Given the description of an element on the screen output the (x, y) to click on. 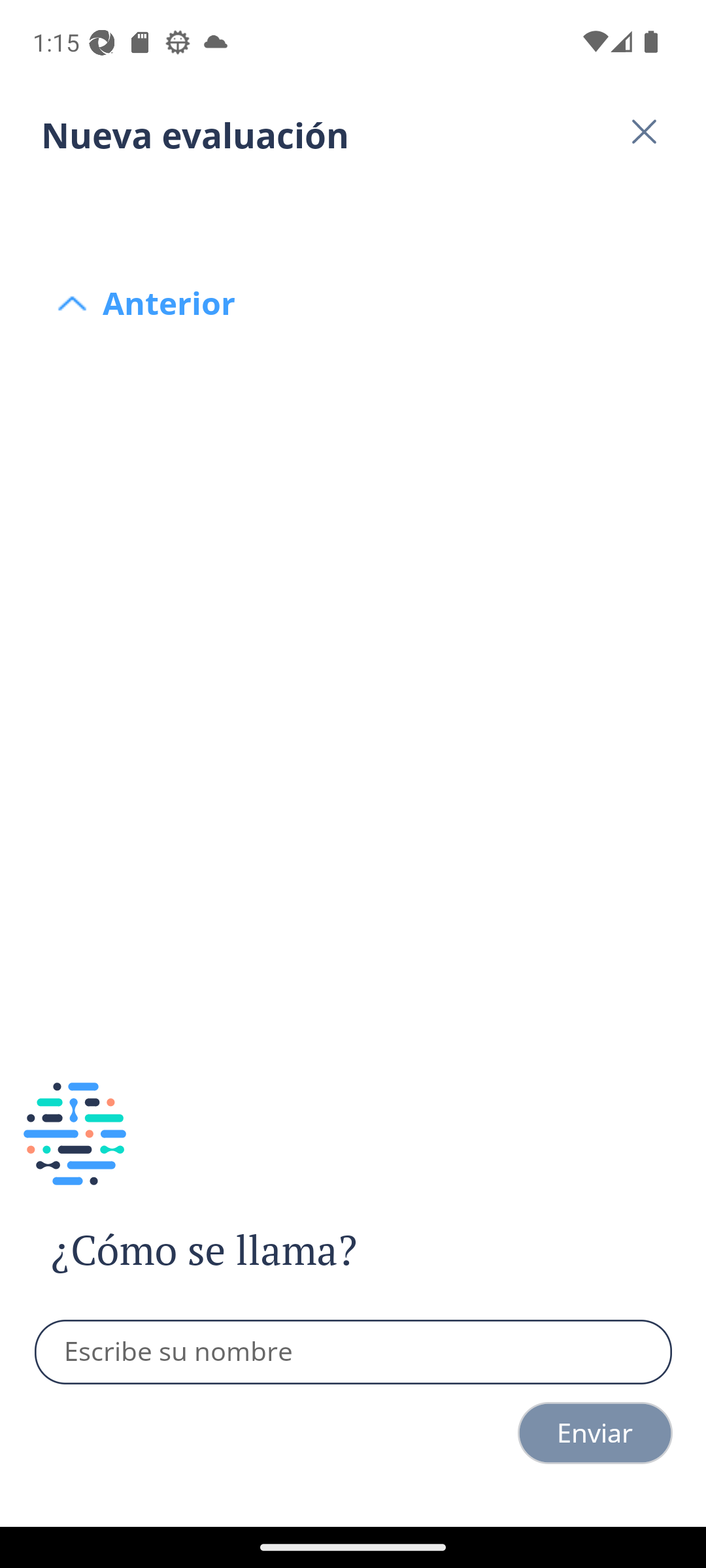
undo Anterior (353, 203)
¿Cómo se llama? (240, 1250)
Escribe su nombre (353, 1352)
Enviar (594, 1432)
